Given the description of an element on the screen output the (x, y) to click on. 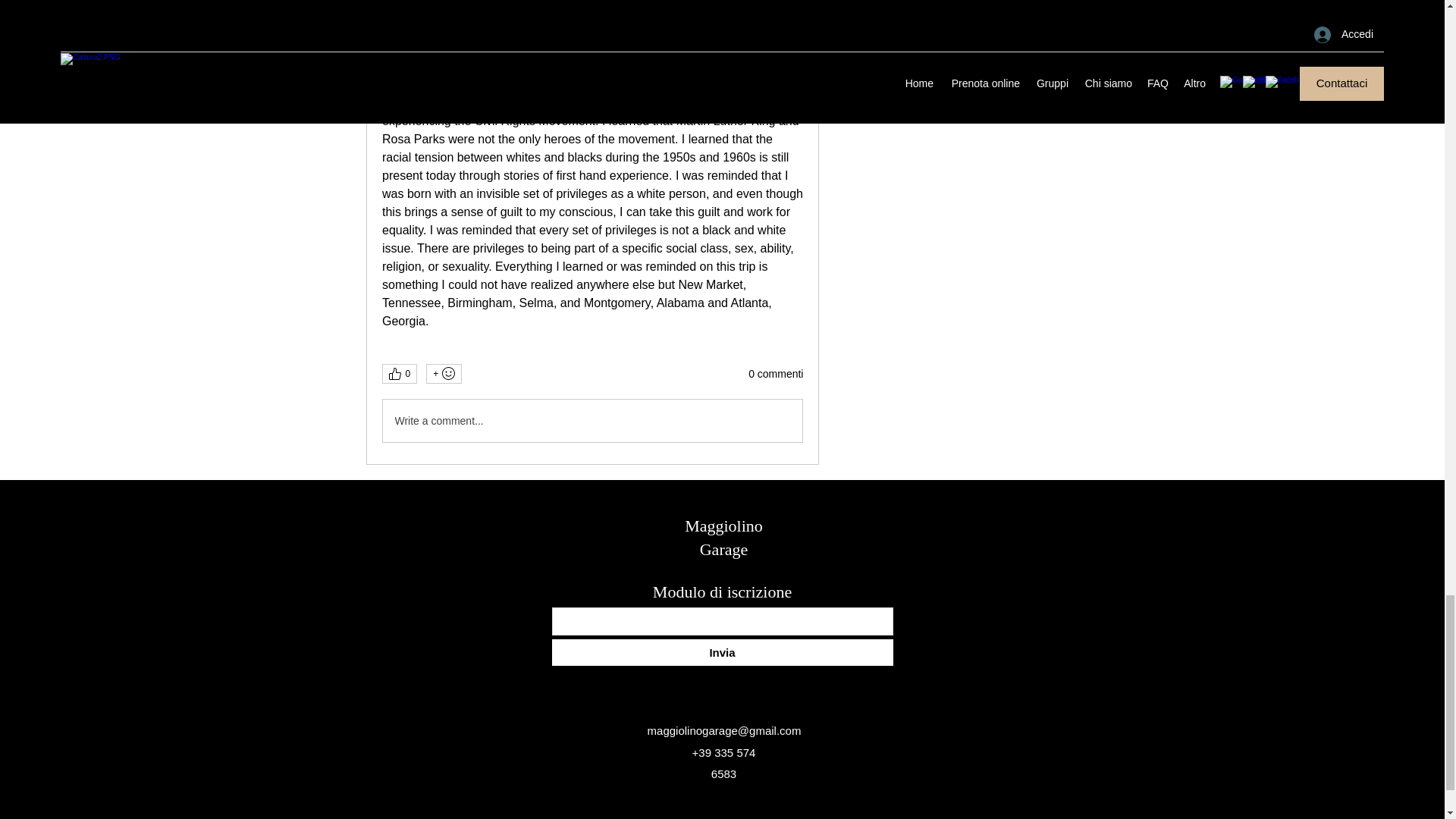
0 commenti (775, 374)
Write a comment... (591, 420)
